Given the description of an element on the screen output the (x, y) to click on. 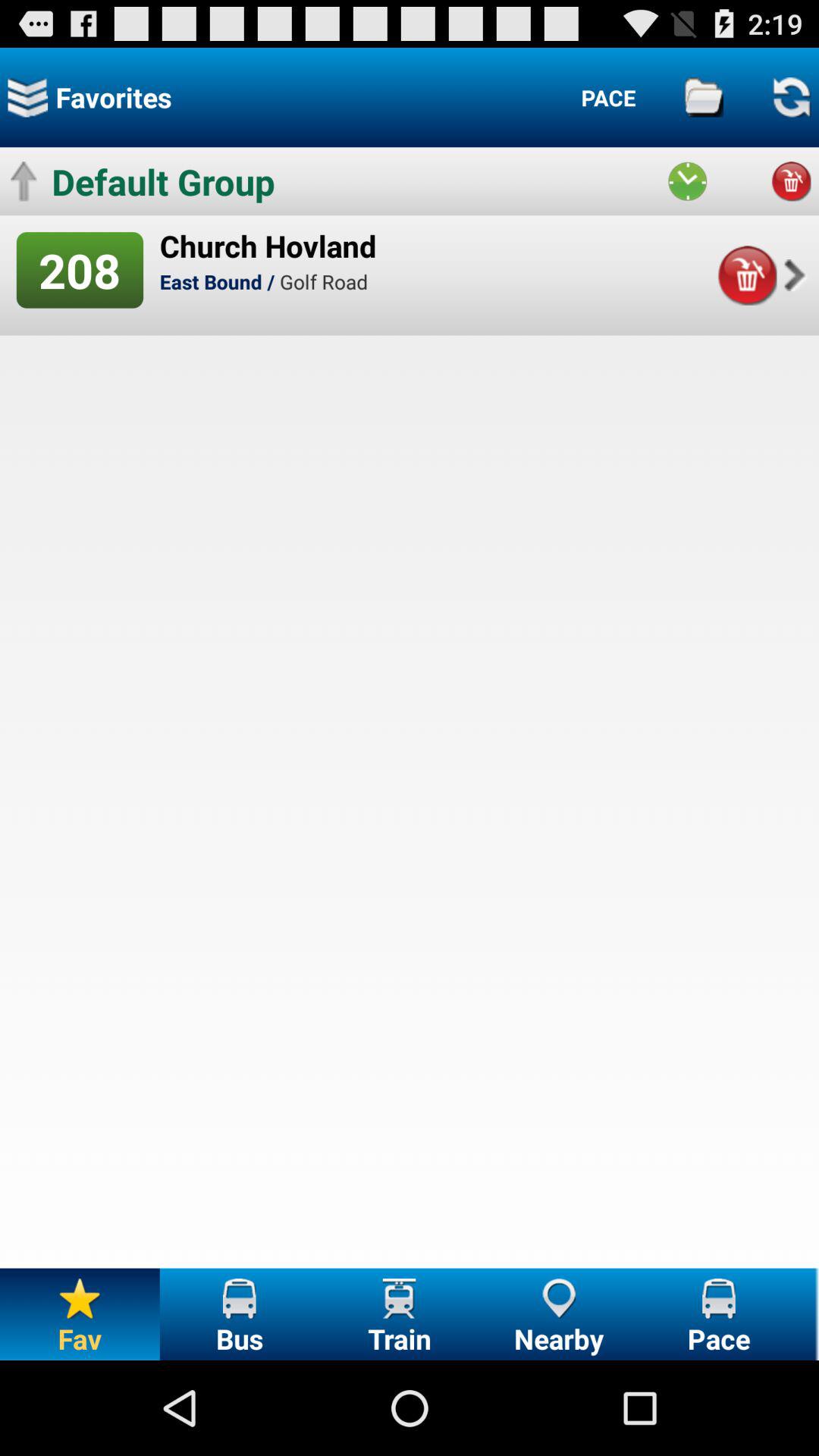
see favorites list (27, 97)
